Given the description of an element on the screen output the (x, y) to click on. 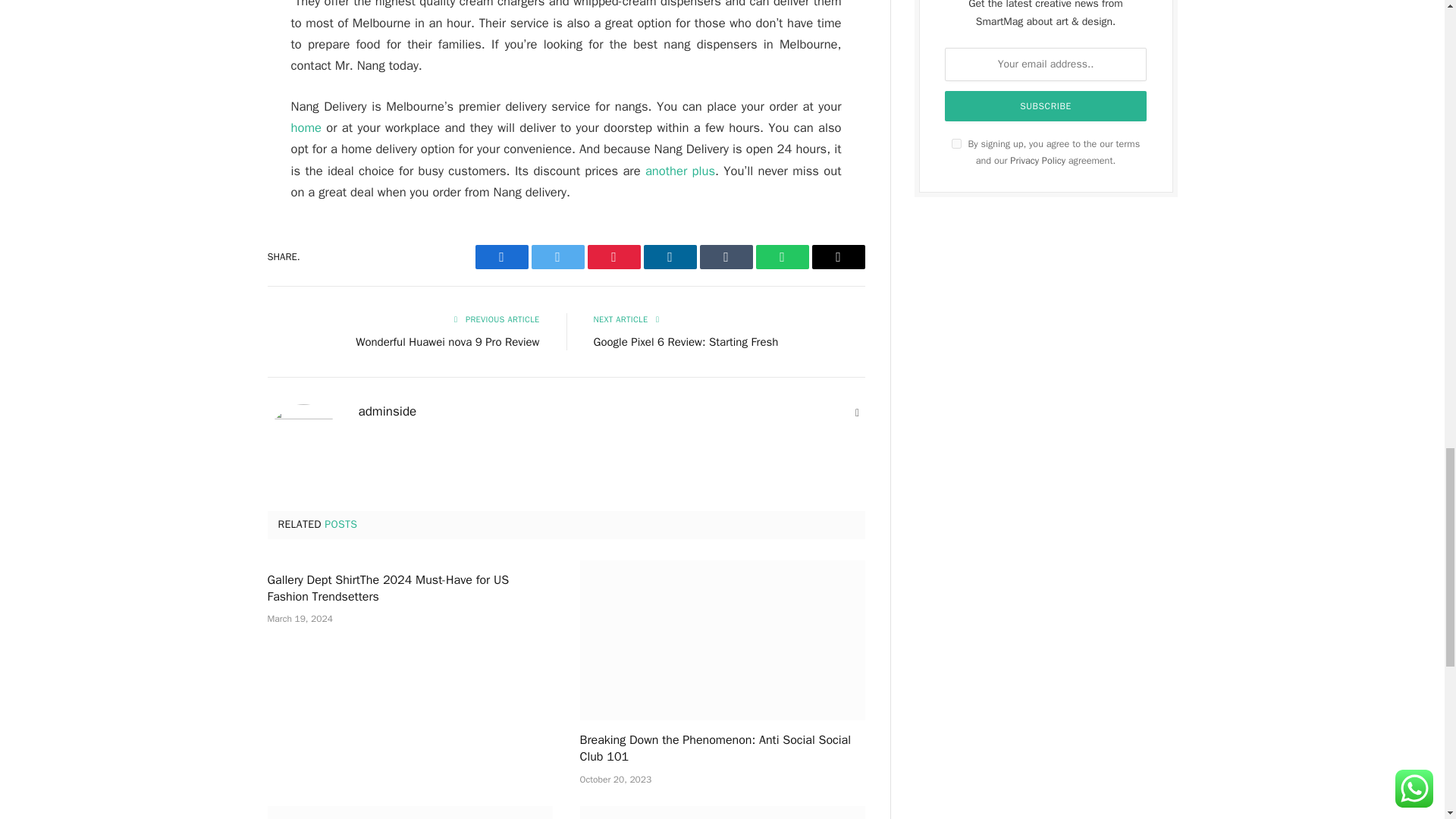
Subscribe (1045, 105)
on (956, 143)
